Given the description of an element on the screen output the (x, y) to click on. 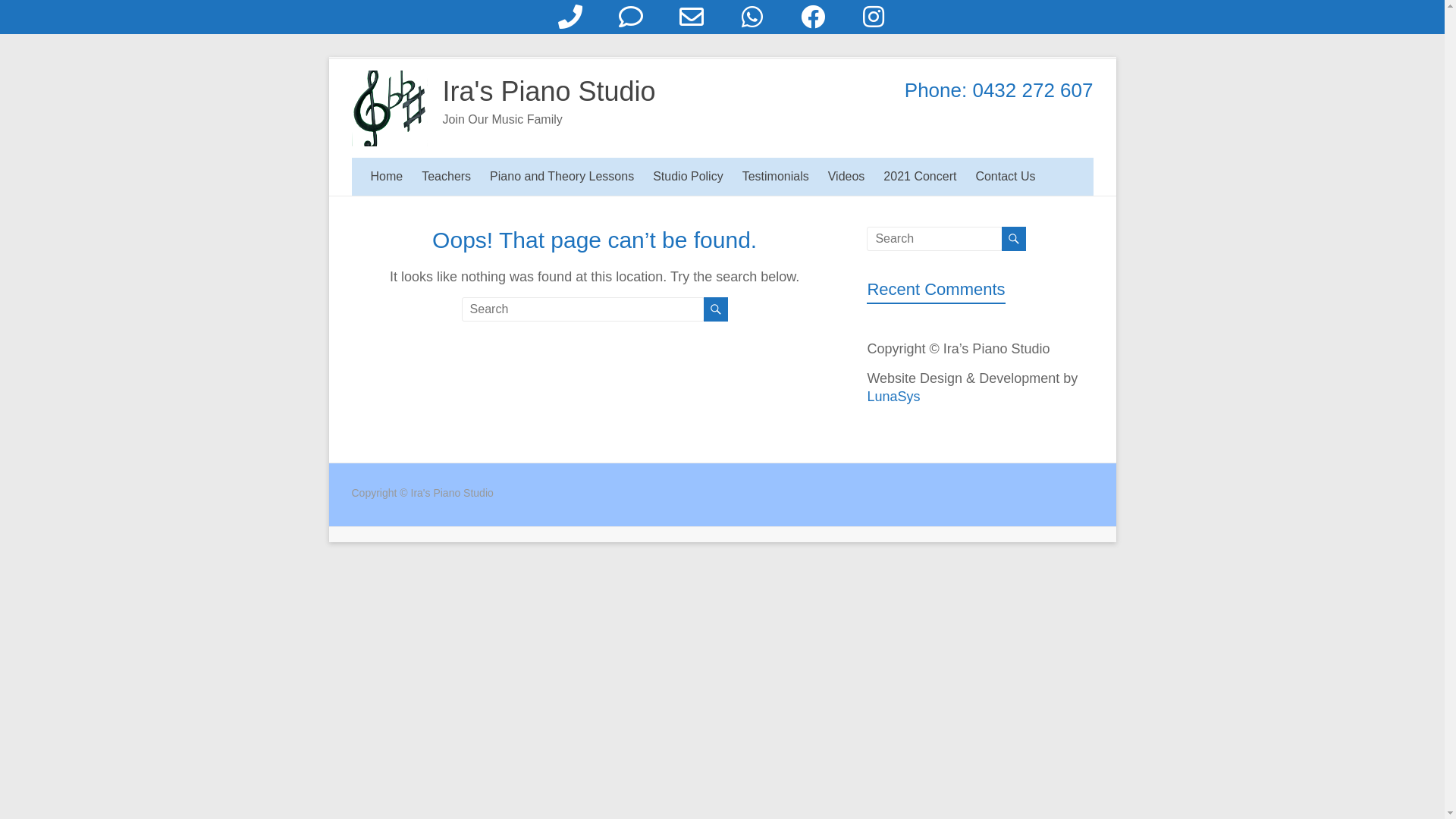
Piano and Theory Lessons Element type: text (561, 176)
2021 Concert Element type: text (919, 176)
Videos Element type: text (846, 176)
Skip to content Element type: text (327, 56)
Teachers Element type: text (445, 176)
Contact Us Element type: text (1005, 176)
Home Element type: text (386, 176)
Testimonials Element type: text (775, 176)
Ira's Piano Studio Element type: text (548, 90)
Studio Policy Element type: text (687, 176)
LunaSys Element type: text (892, 396)
